Given the description of an element on the screen output the (x, y) to click on. 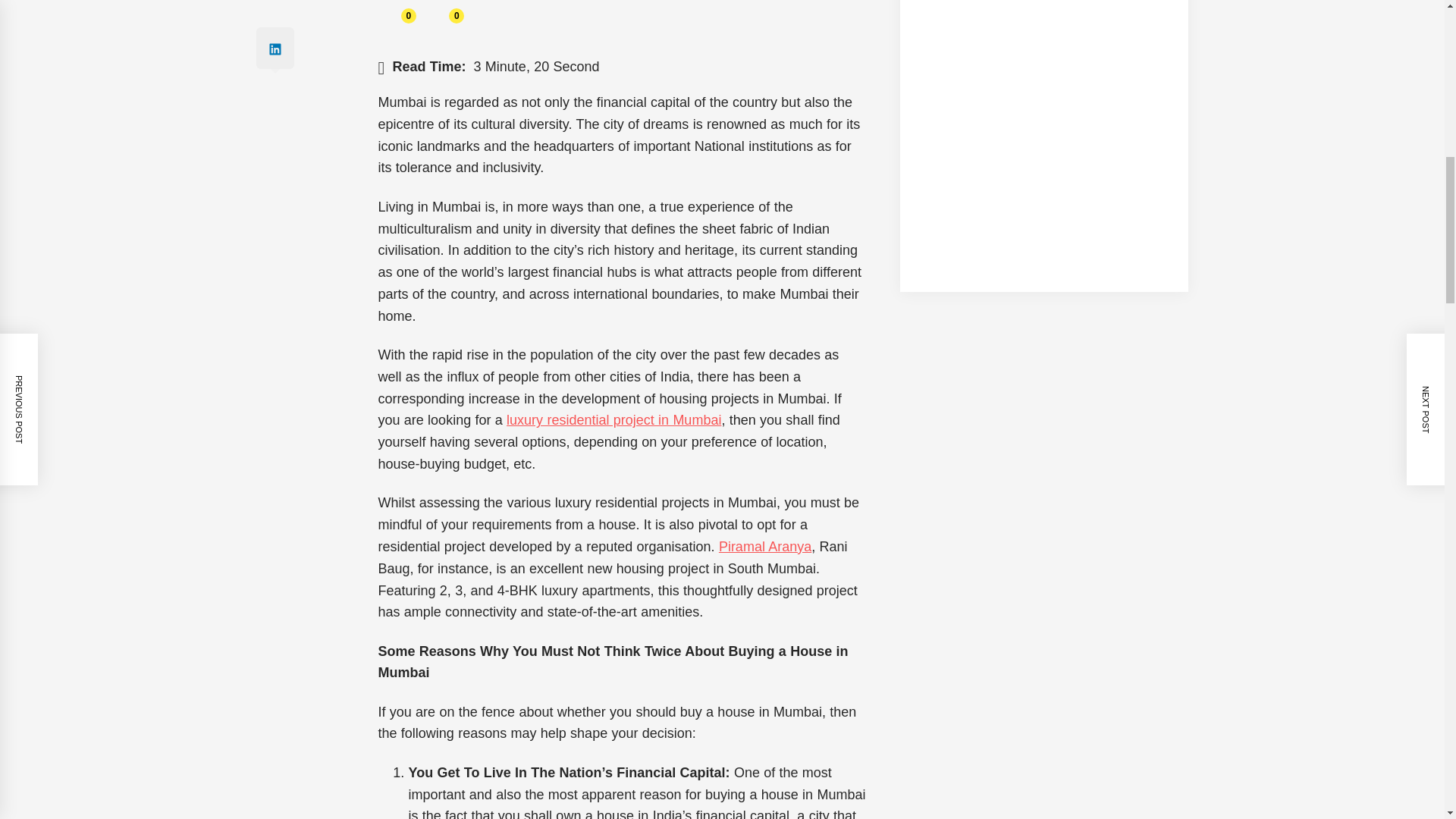
Piramal Aranya (764, 546)
luxury residential project in Mumbai (613, 419)
